Given the description of an element on the screen output the (x, y) to click on. 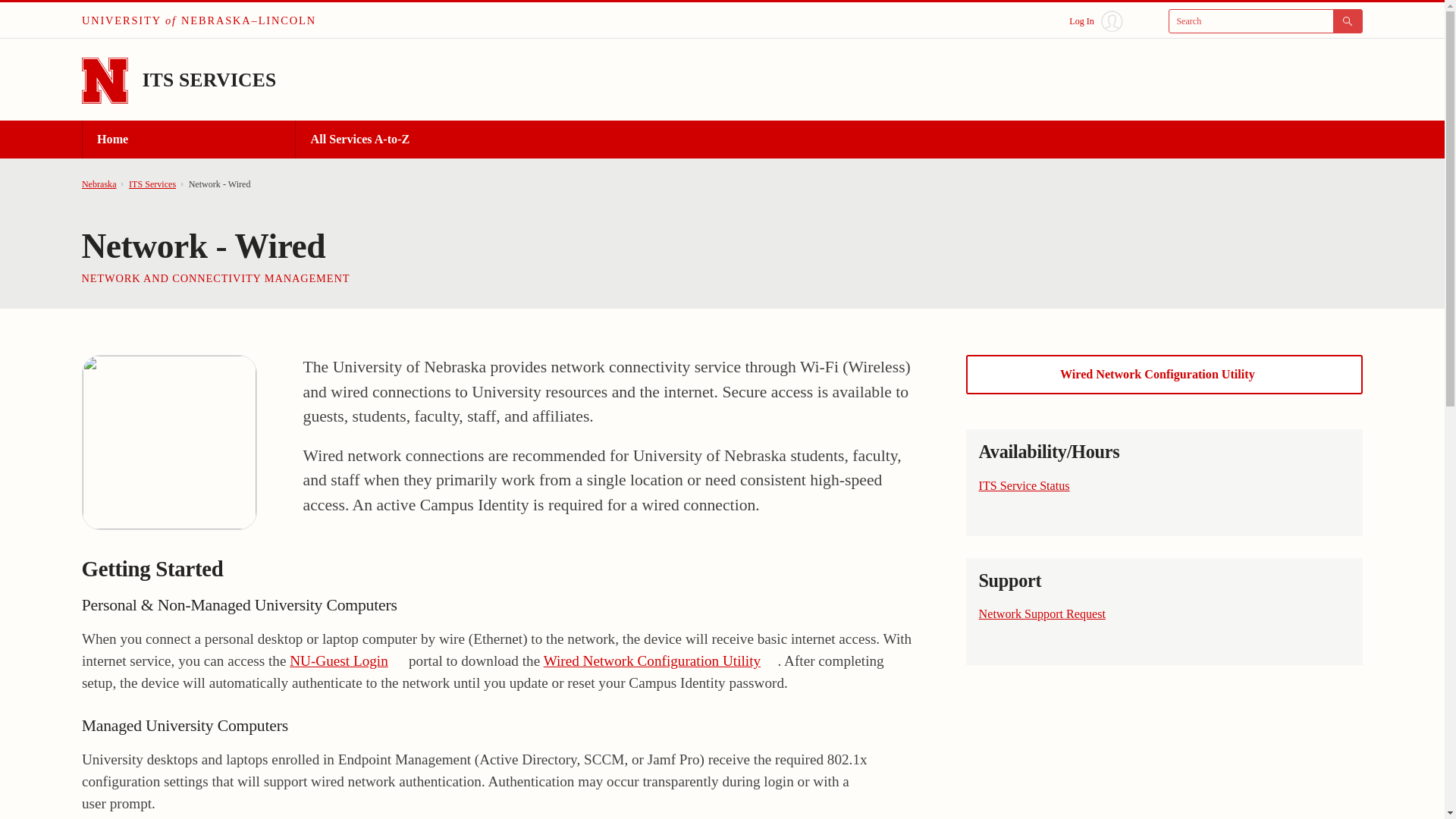
NU-Guest Login (346, 660)
ITS SERVICES (209, 79)
Skip to main content (19, 16)
ITS Services (152, 183)
Log In (1095, 21)
All Services A-to-Z (401, 139)
Home (188, 139)
Network Support Request (1048, 613)
Wired Network Configuration Utility (660, 660)
NETWORK AND CONNECTIVITY MANAGEMENT (215, 277)
Nebraska (98, 183)
Wired Network Configuration Utility (1164, 373)
Search (1265, 21)
ITS Service Status (1031, 485)
